Given the description of an element on the screen output the (x, y) to click on. 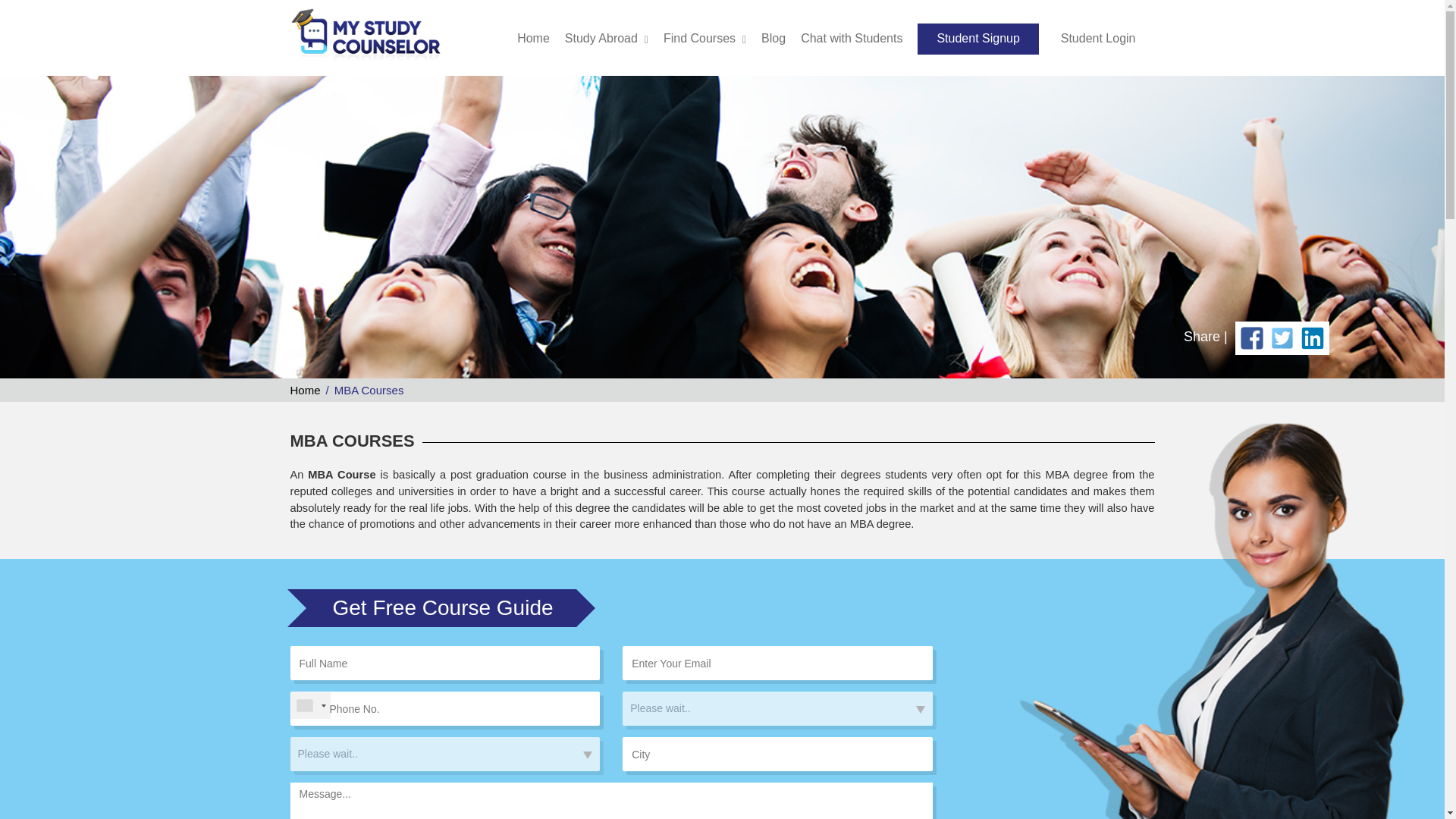
Study Abroad (600, 38)
My Study Counselor Courses (365, 37)
Home (533, 38)
Share on LinkedIn (1312, 337)
